Given the description of an element on the screen output the (x, y) to click on. 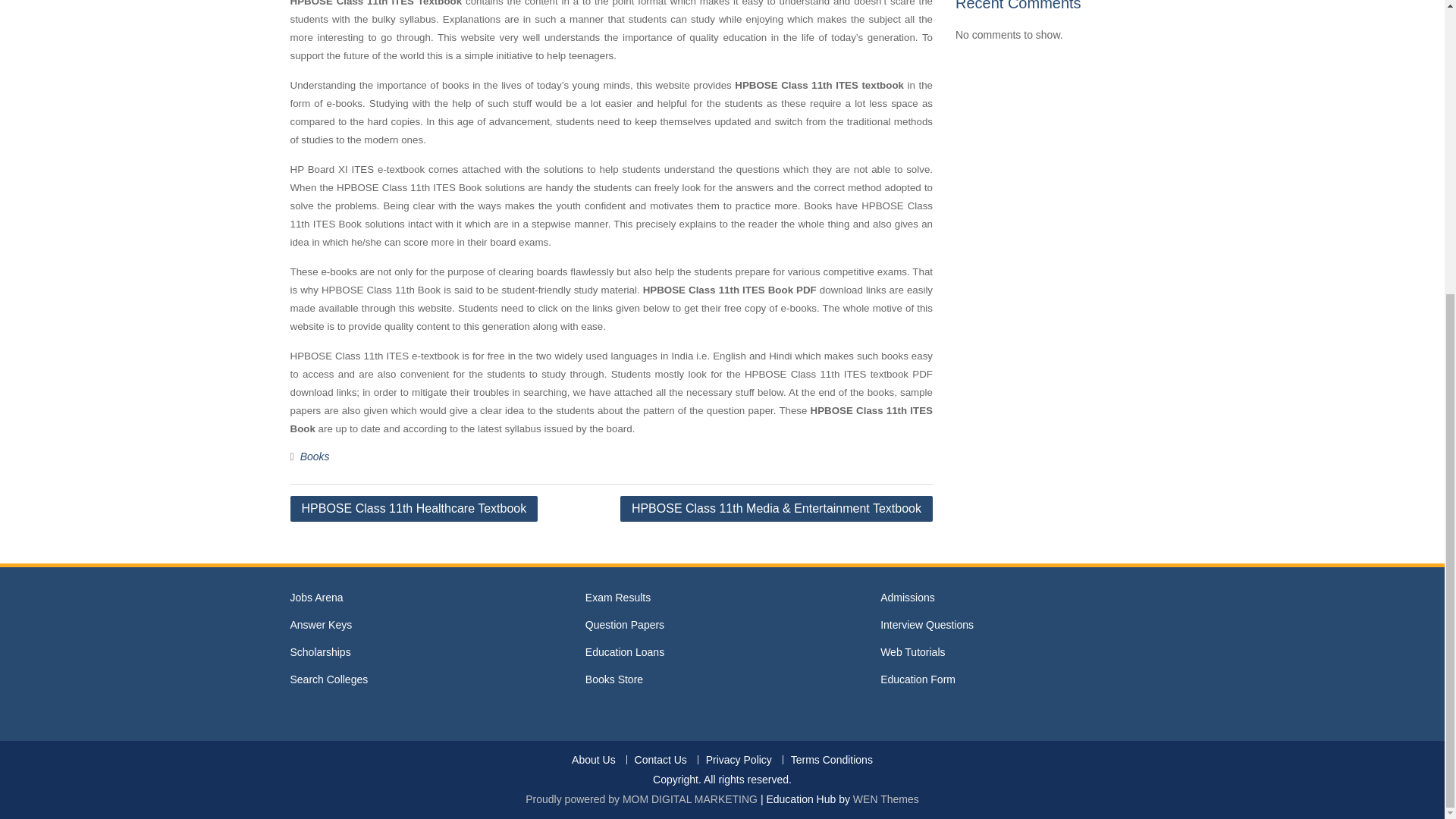
HPBOSE Class 11th Healthcare Textbook (413, 508)
About Us (593, 759)
Terms Conditions (831, 759)
Proudly powered by MOM DIGITAL MARKETING (641, 799)
Contact Us (660, 759)
Privacy Policy (737, 759)
WEN Themes (885, 799)
Books (314, 456)
